Given the description of an element on the screen output the (x, y) to click on. 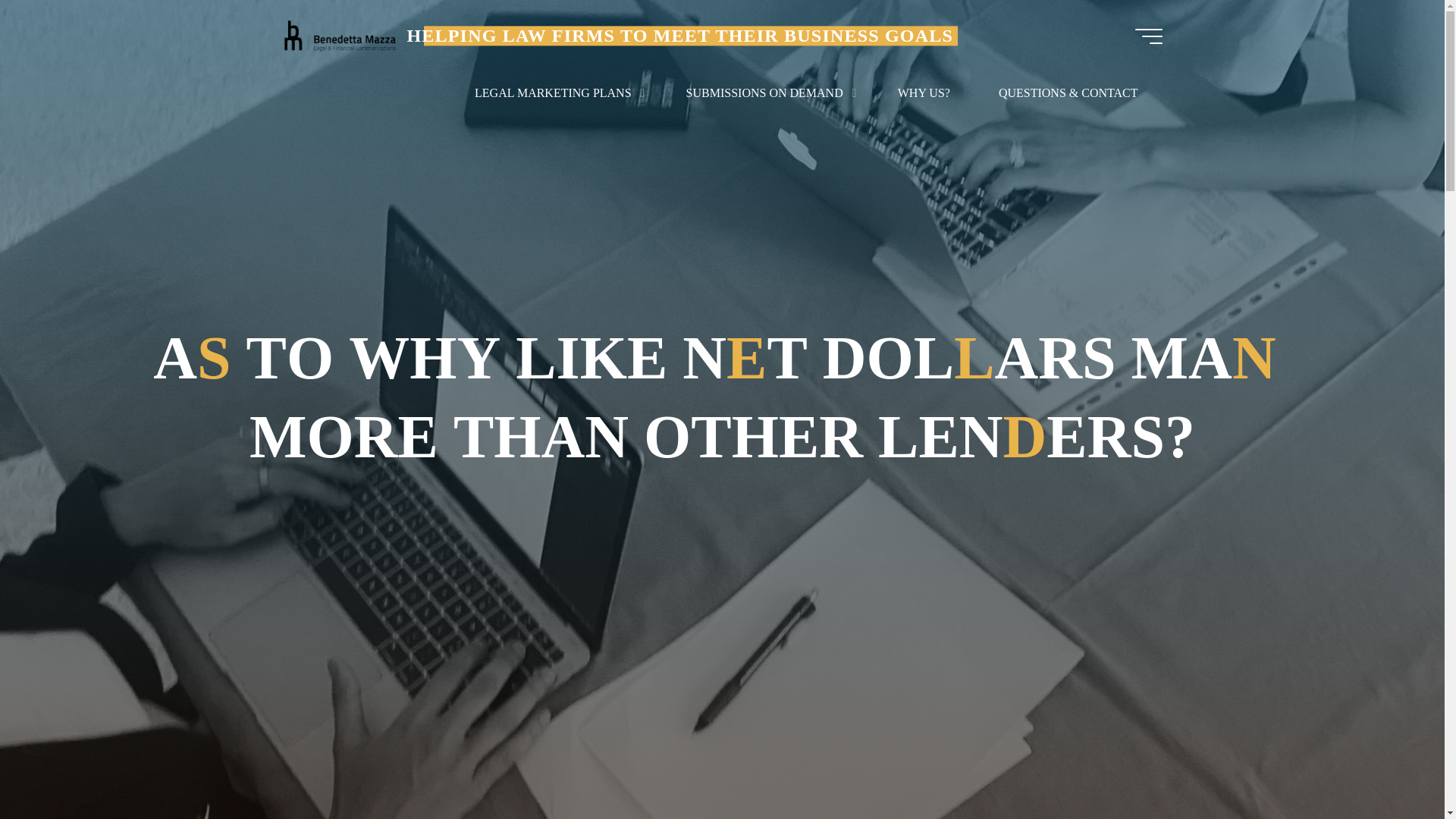
SUBMISSIONS ON DEMAND (767, 92)
HELPING LAW FIRMS TO MEET THEIR BUSINESS GOALS (339, 35)
Leggi tutto (721, 724)
LEGAL MARKETING PLANS (555, 92)
HELPING LAW FIRMS TO MEET THEIR BUSINESS GOALS (679, 35)
WHY US? (923, 92)
